Given the description of an element on the screen output the (x, y) to click on. 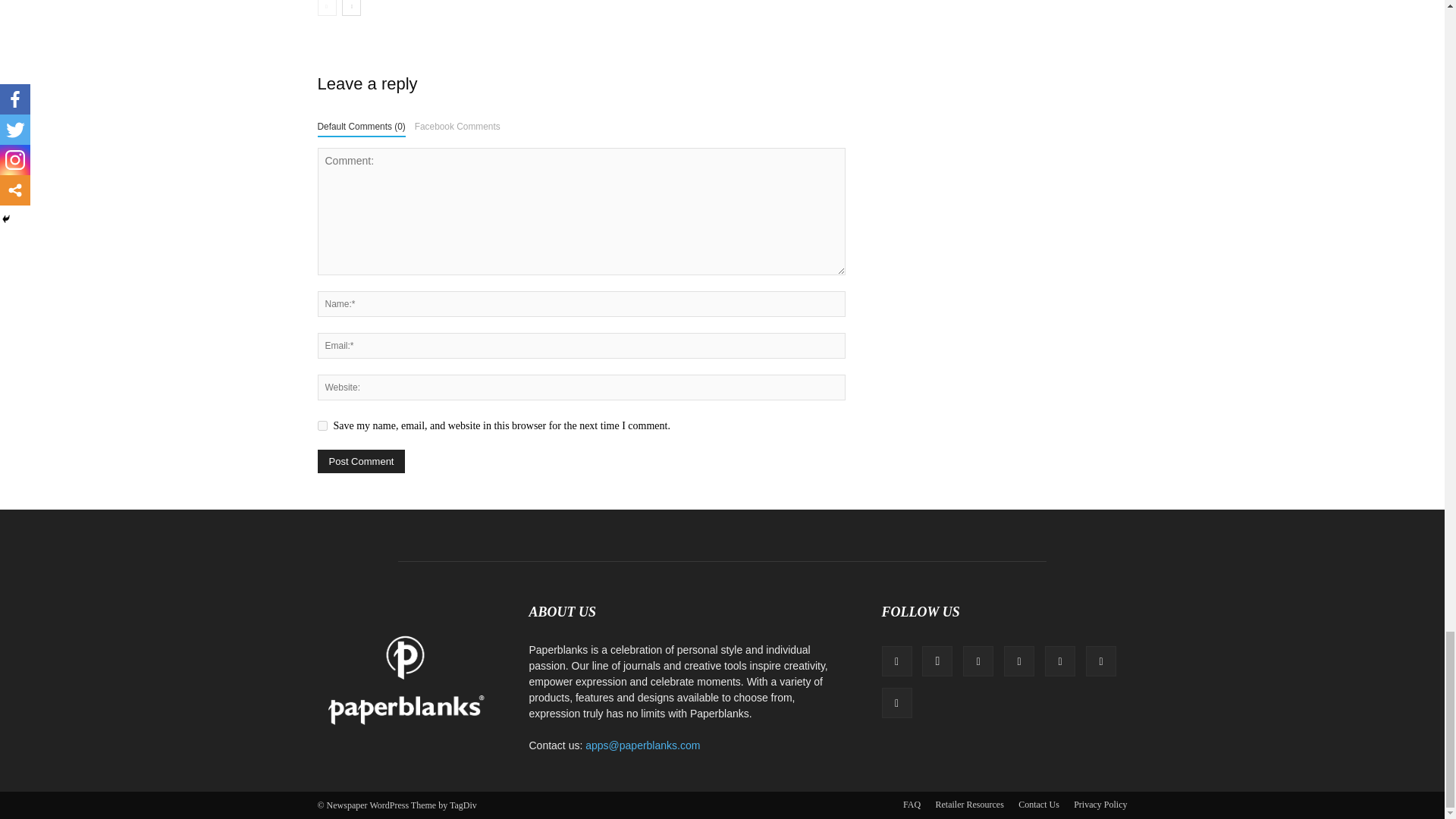
yes (321, 425)
Post Comment (360, 461)
